Given the description of an element on the screen output the (x, y) to click on. 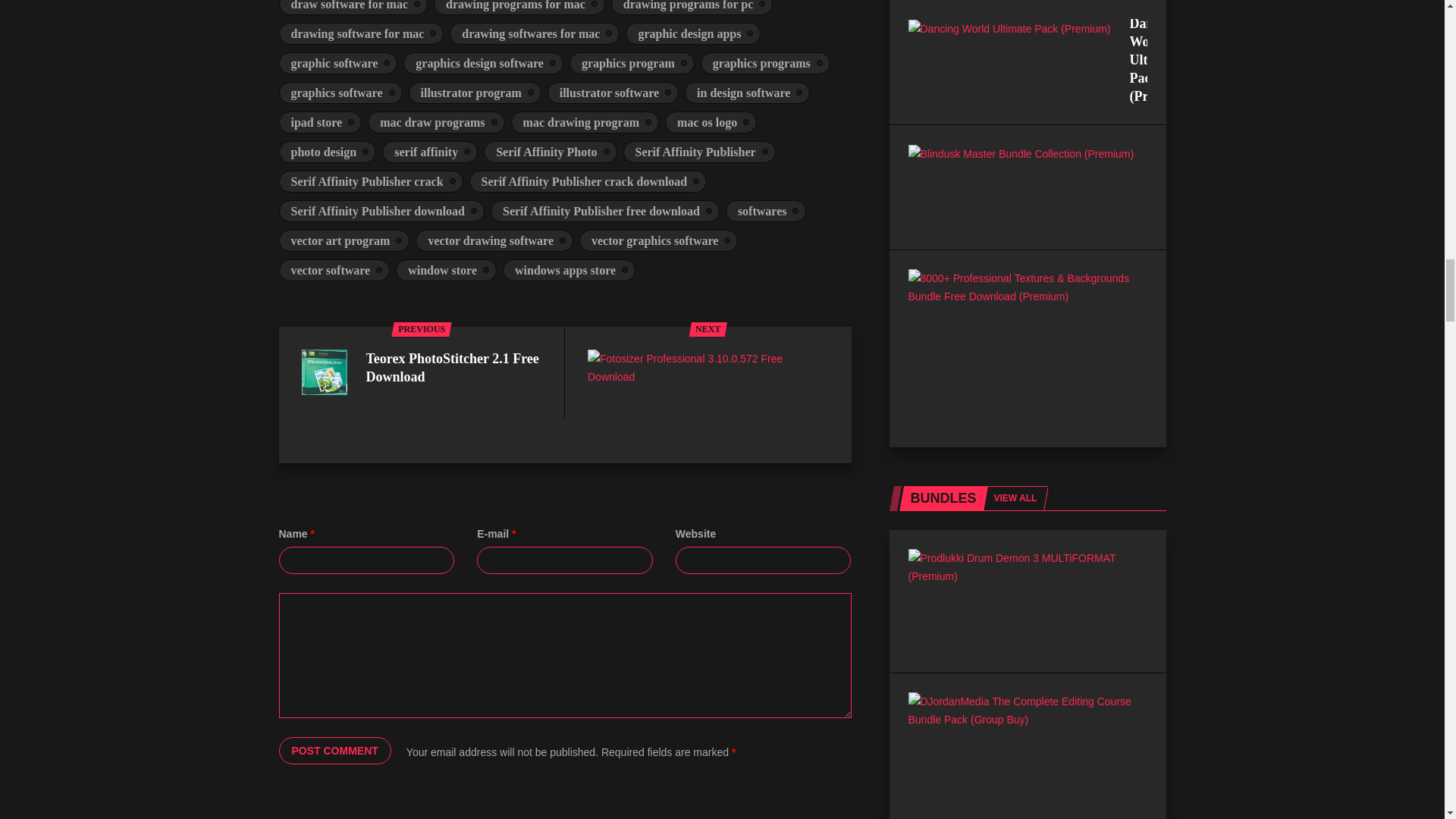
Post comment (335, 750)
